Given the description of an element on the screen output the (x, y) to click on. 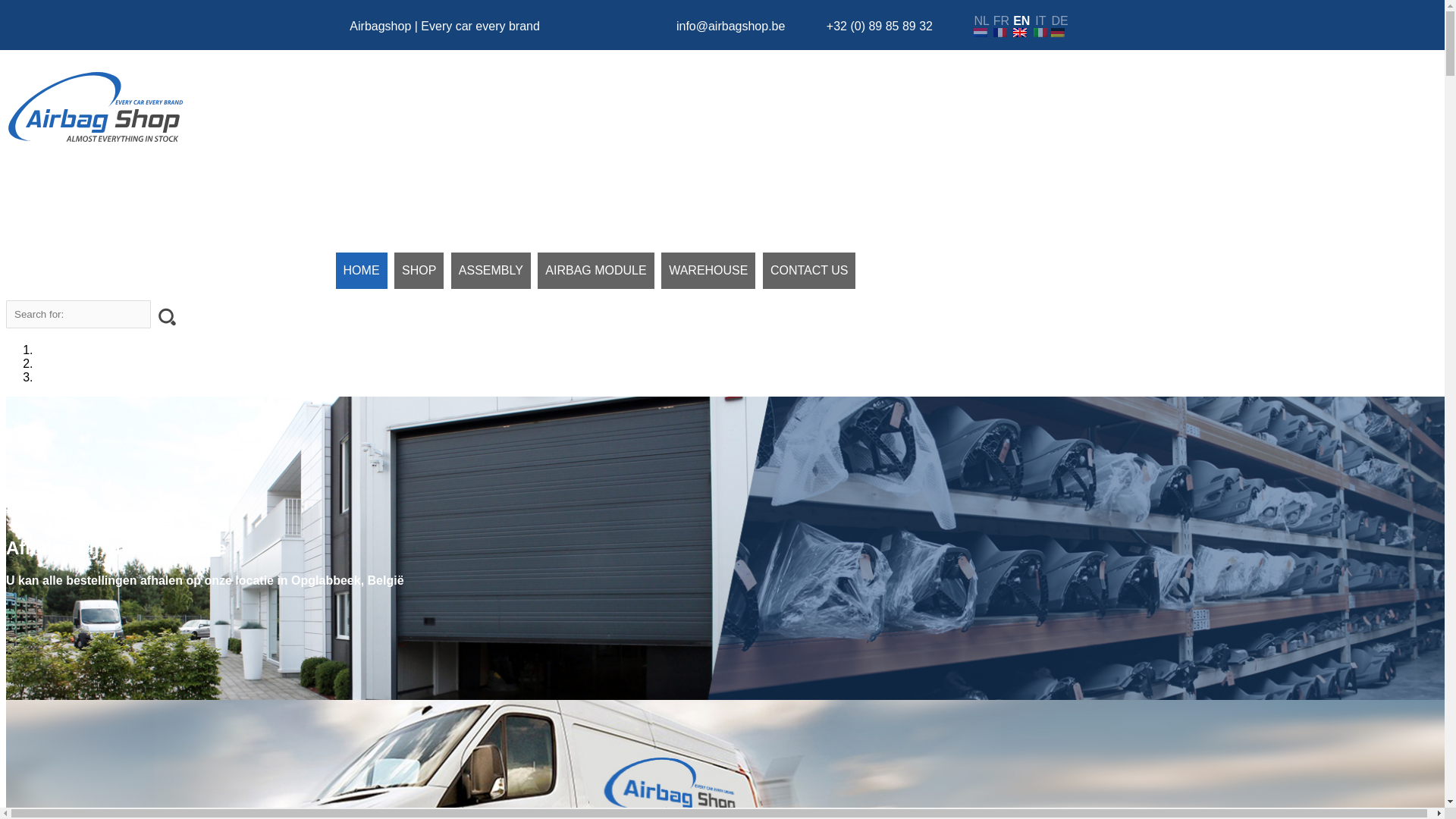
IT Element type: text (1040, 25)
NL Element type: text (980, 25)
+32 (0) 89 85 89 32 Element type: text (879, 25)
HOME Element type: text (361, 270)
WAREHOUSE Element type: text (708, 270)
SHOP Element type: text (418, 270)
info@airbagshop.be Element type: text (730, 25)
DE Element type: text (1059, 25)
search Element type: text (165, 316)
EN Element type: text (1021, 25)
Airbag Shop Element type: text (95, 107)
ASSEMBLY Element type: text (490, 270)
AIRBAG MODULE Element type: text (595, 270)
Chat with us via WhatsApp Element type: hover (629, 25)
CONTACT US Element type: text (809, 270)
FR Element type: text (1001, 25)
